Given the description of an element on the screen output the (x, y) to click on. 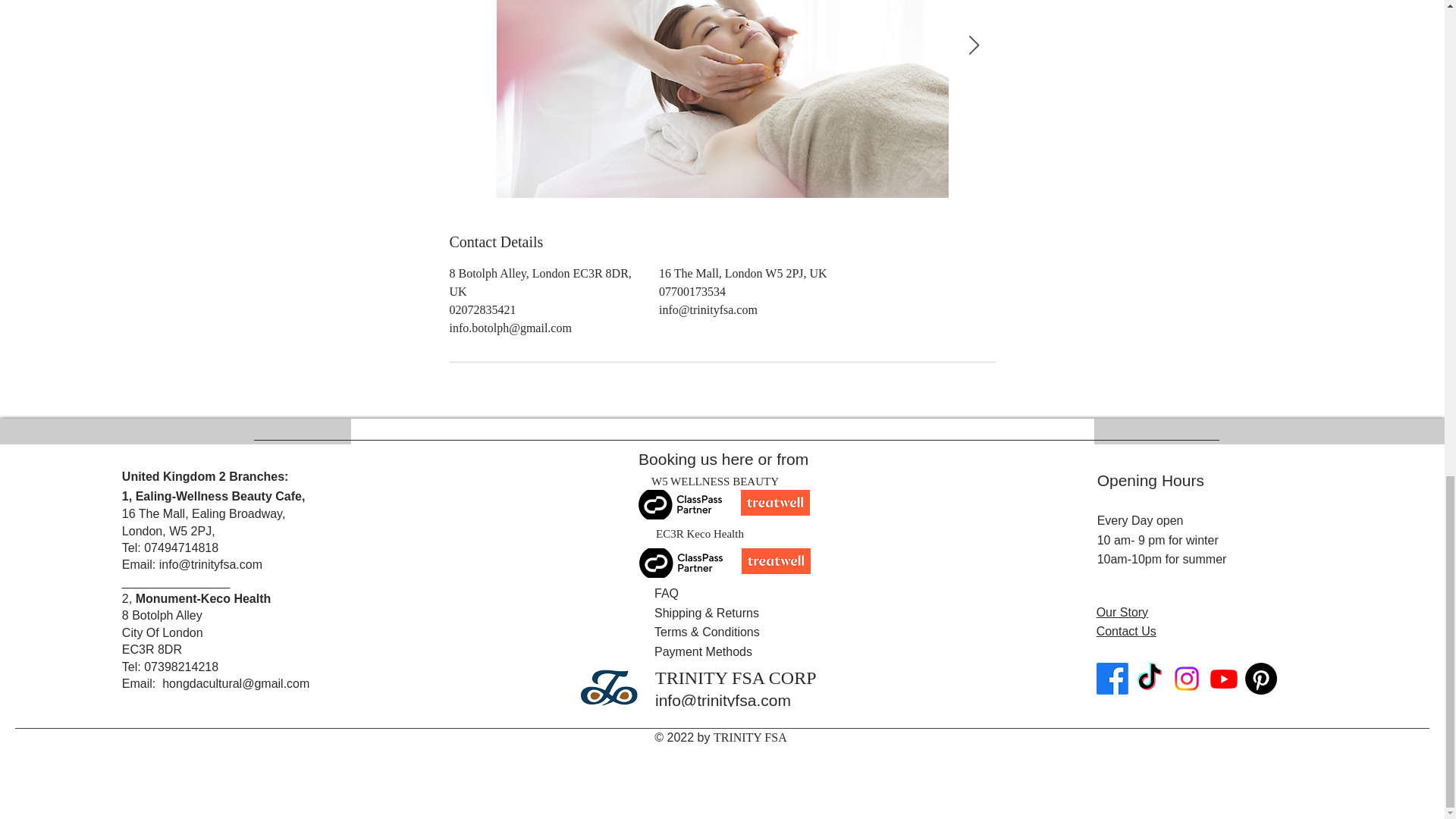
Our Story (1122, 612)
Payment Methods (702, 651)
TRINITY FSA (750, 737)
FAQ (665, 593)
Contact Us (1126, 631)
TRINITY FSA CORP (735, 677)
Tel: 07494714818 (170, 547)
